Given the description of an element on the screen output the (x, y) to click on. 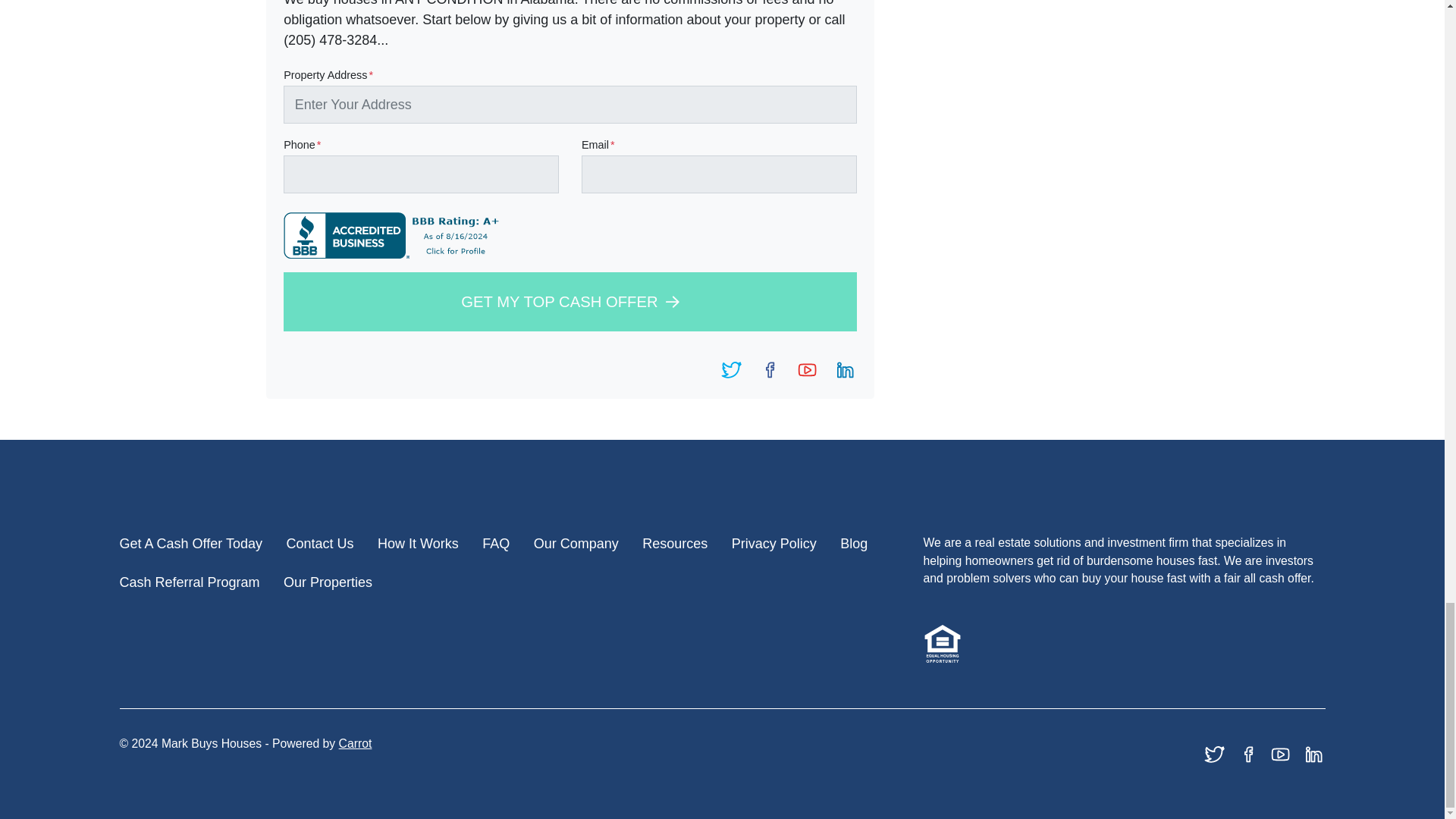
YouTube (807, 369)
Facebook (769, 369)
Mark Buys Houses, Real Estate Investing, Birmingham, AL (394, 235)
Twitter (731, 369)
LinkedIn (845, 369)
Get A Cash Offer Today (190, 543)
GET MY TOP CASH OFFER (570, 300)
How It Works (417, 543)
Contact Us (319, 543)
